Given the description of an element on the screen output the (x, y) to click on. 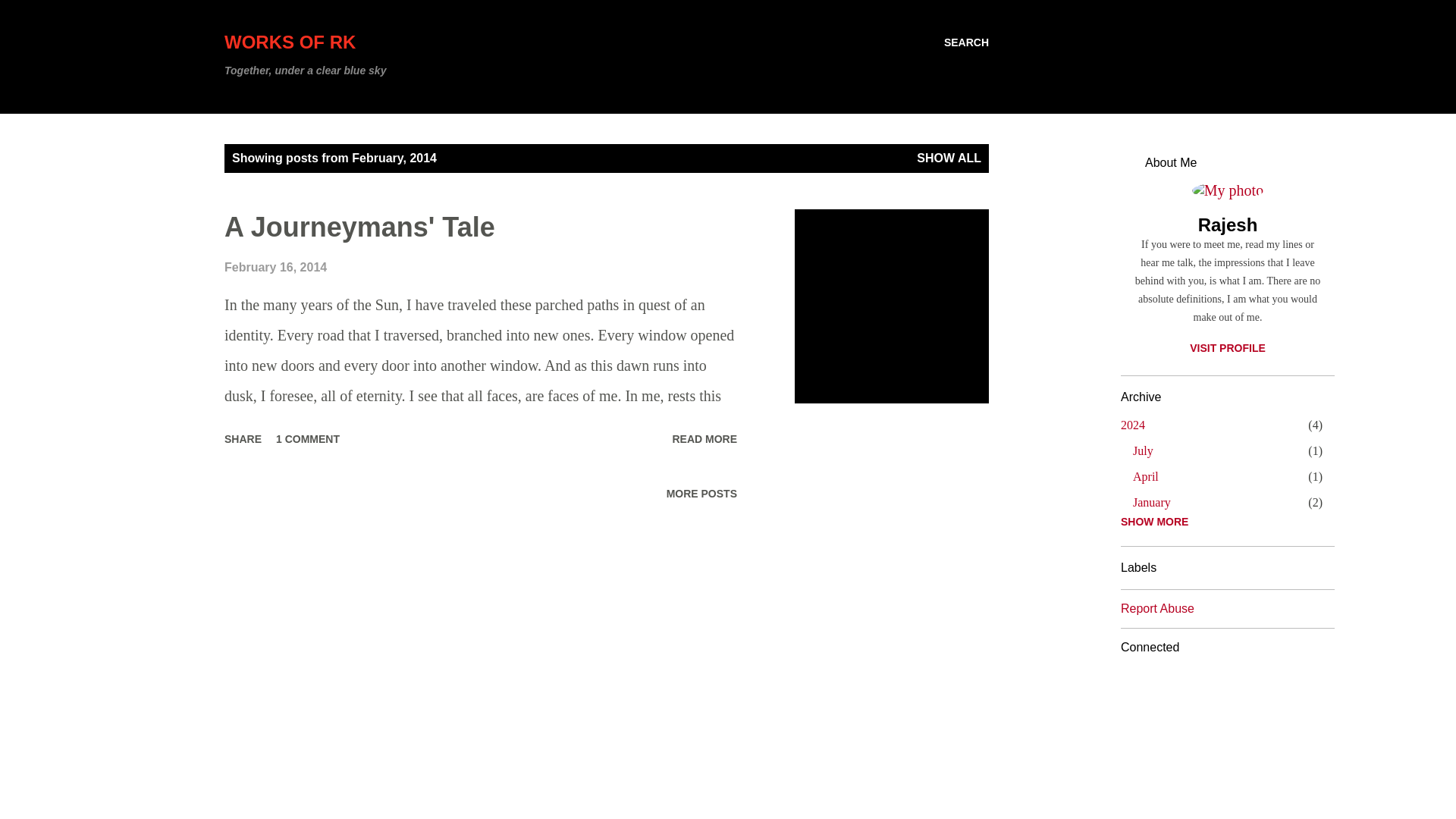
More posts (701, 493)
February 16, 2014 (1142, 450)
SHARE (1151, 502)
1 COMMENT (275, 267)
WORKS OF RK (242, 438)
Rajesh (307, 438)
SEARCH (289, 41)
READ MORE (1228, 224)
A Journeymans' Tale (965, 42)
SHOW ALL (703, 438)
VISIT PROFILE (703, 438)
permanent link (1132, 424)
